Given the description of an element on the screen output the (x, y) to click on. 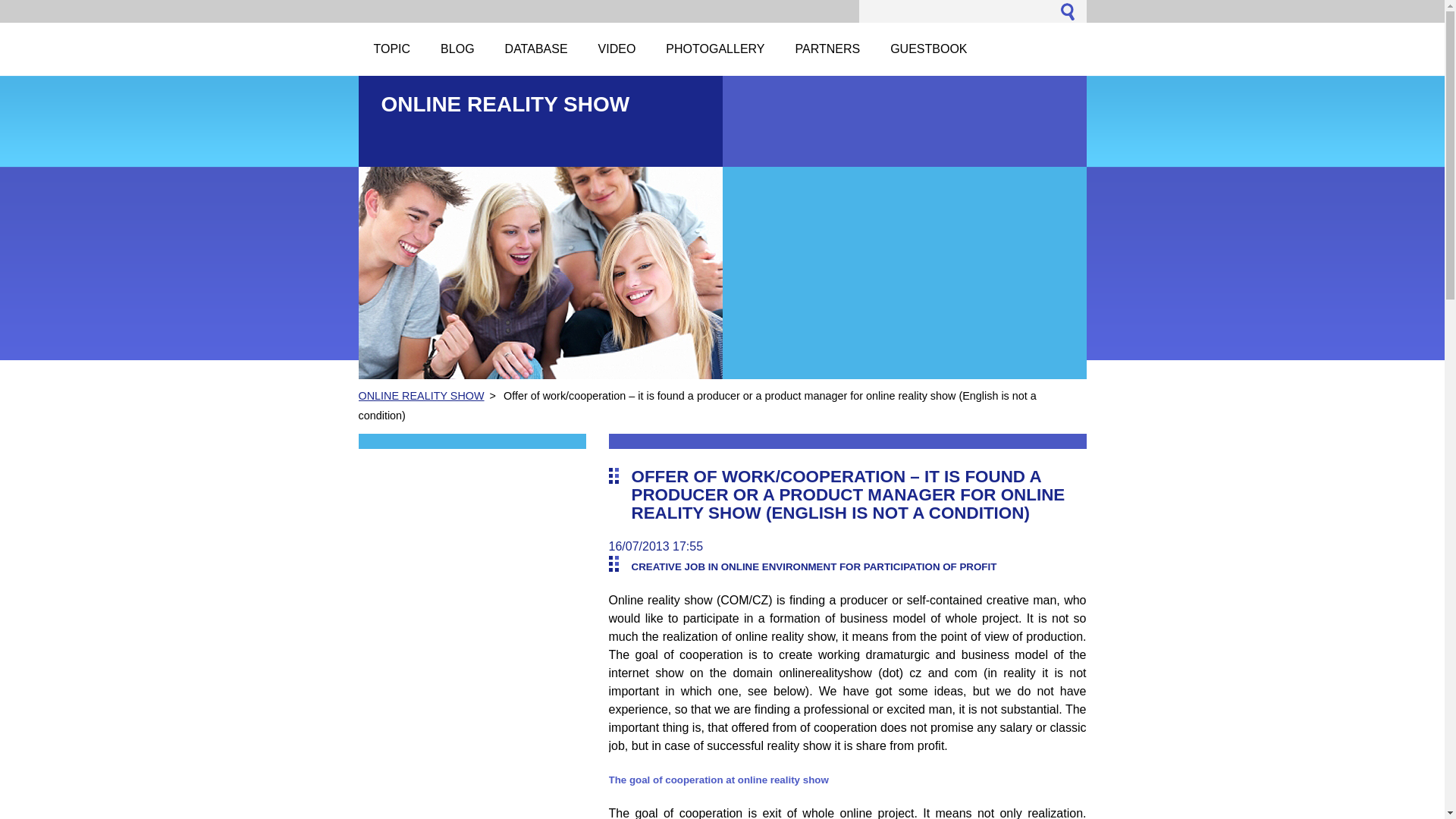
TOPIC (391, 49)
VIDEO (616, 49)
GUESTBOOK (928, 49)
DATABASE (536, 49)
PHOTOGALLERY (714, 49)
BLOG (457, 49)
Go to Homepage. (504, 104)
PARTNERS (826, 49)
ONLINE REALITY SHOW (420, 395)
ONLINE REALITY SHOW (504, 104)
